Given the description of an element on the screen output the (x, y) to click on. 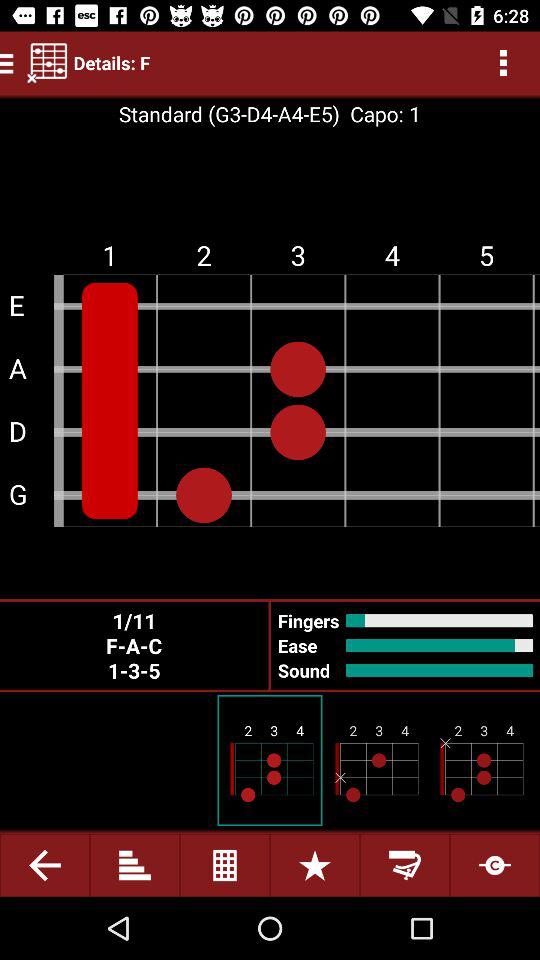
launch the   capo: 1 (379, 113)
